Given the description of an element on the screen output the (x, y) to click on. 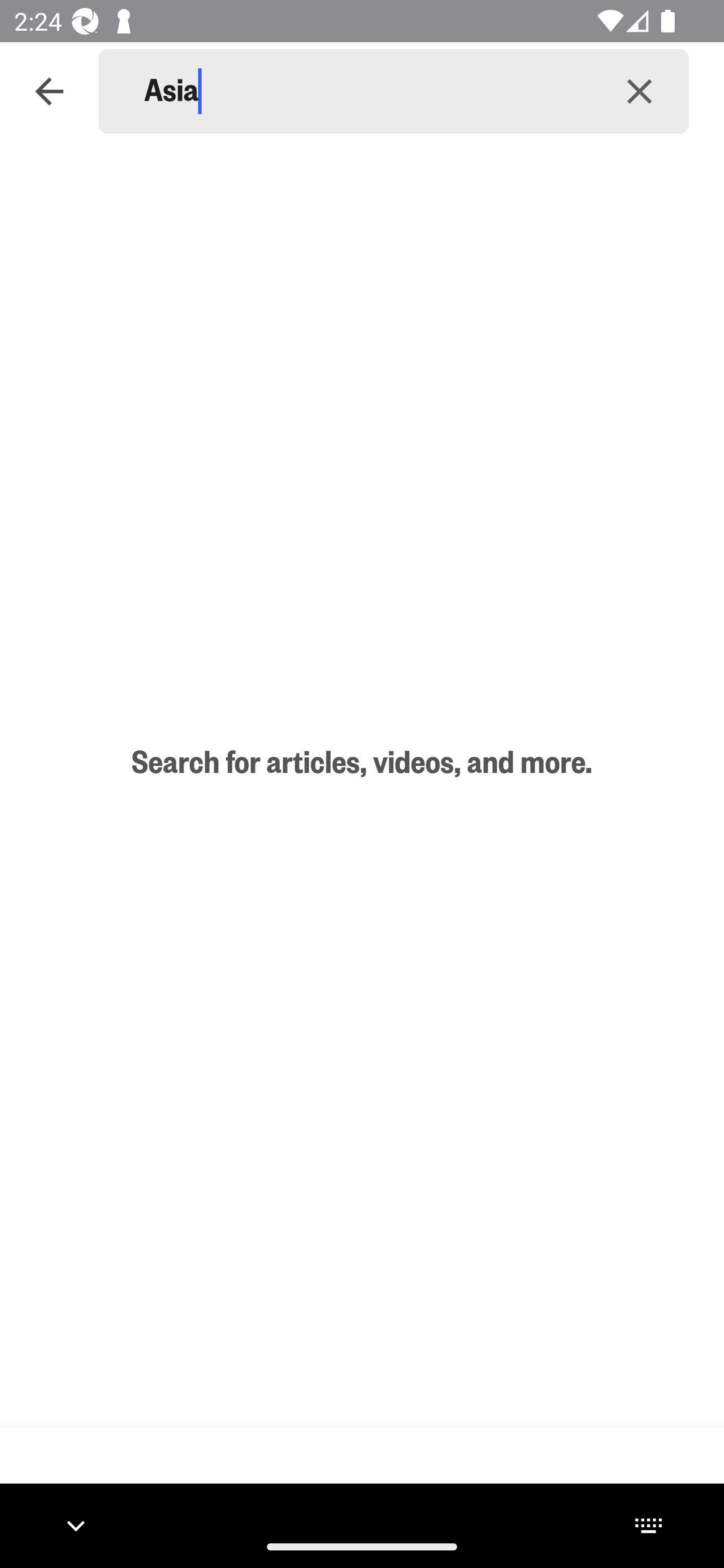
Navigate up (49, 91)
Clear query (639, 90)
Asia (367, 91)
